Given the description of an element on the screen output the (x, y) to click on. 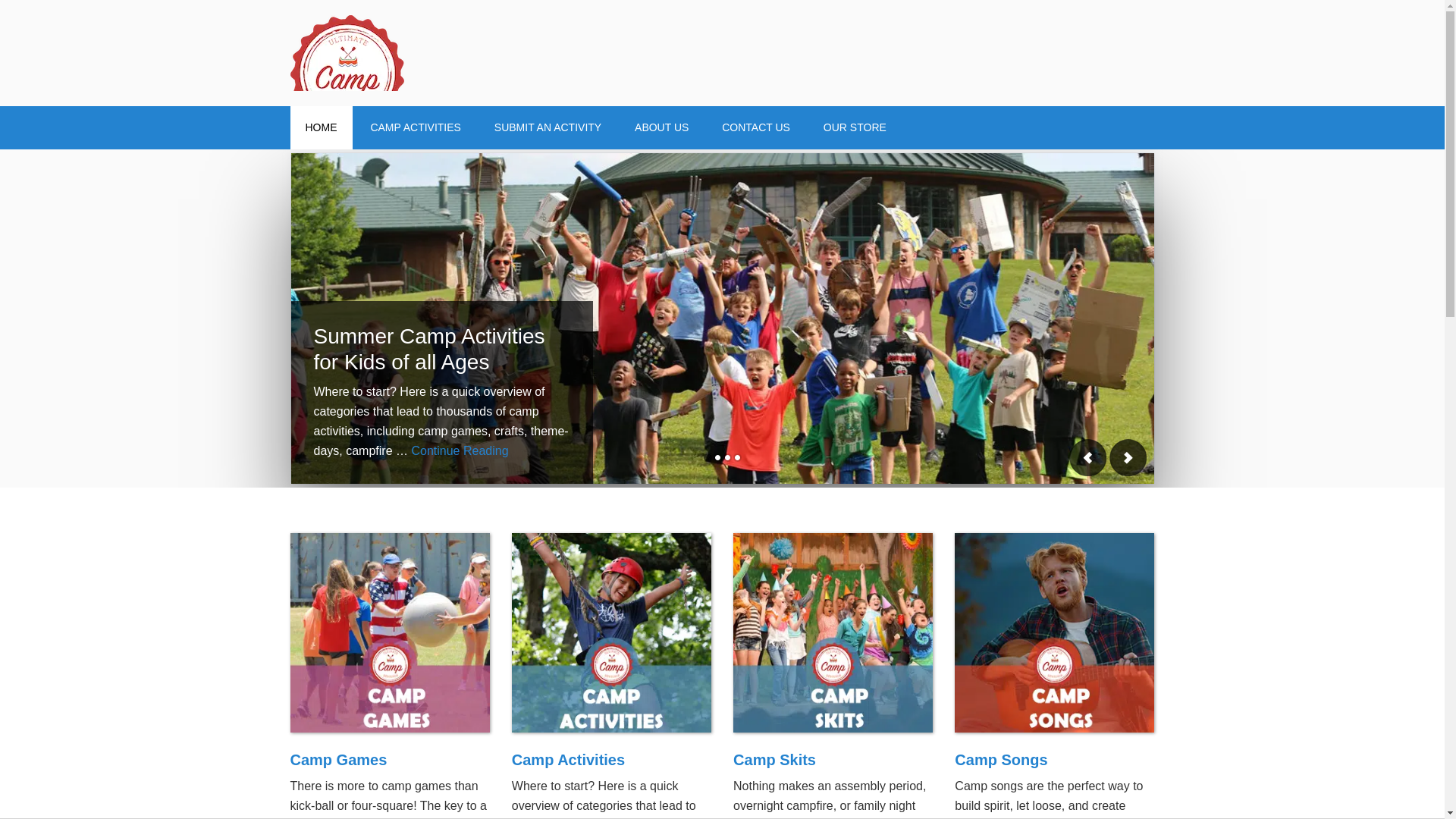
Camp Skits (774, 759)
ULTIMATE CAMP RESOURCE (418, 52)
1 (706, 458)
SUBMIT AN ACTIVITY (547, 127)
OUR STORE (854, 127)
3 (727, 458)
2 (717, 458)
Camp Games for Summer Fun! (389, 635)
CAMP ACTIVITIES (415, 127)
Summer Camp Activities for Kids of all Ages (429, 348)
